Given the description of an element on the screen output the (x, y) to click on. 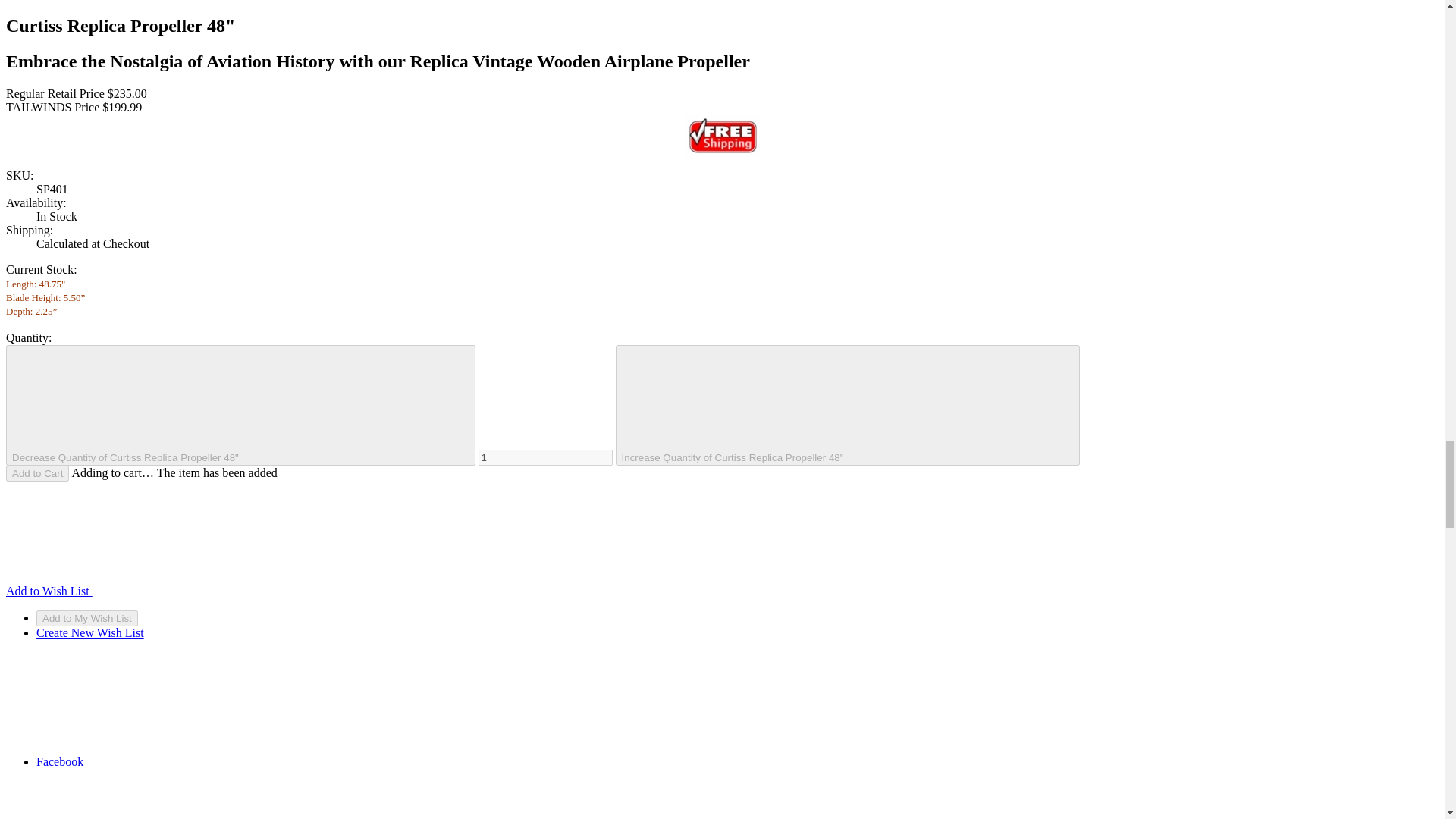
1 (545, 457)
Facebook (175, 761)
Add to Cart (36, 473)
Add to My Wish List (87, 618)
